Given the description of an element on the screen output the (x, y) to click on. 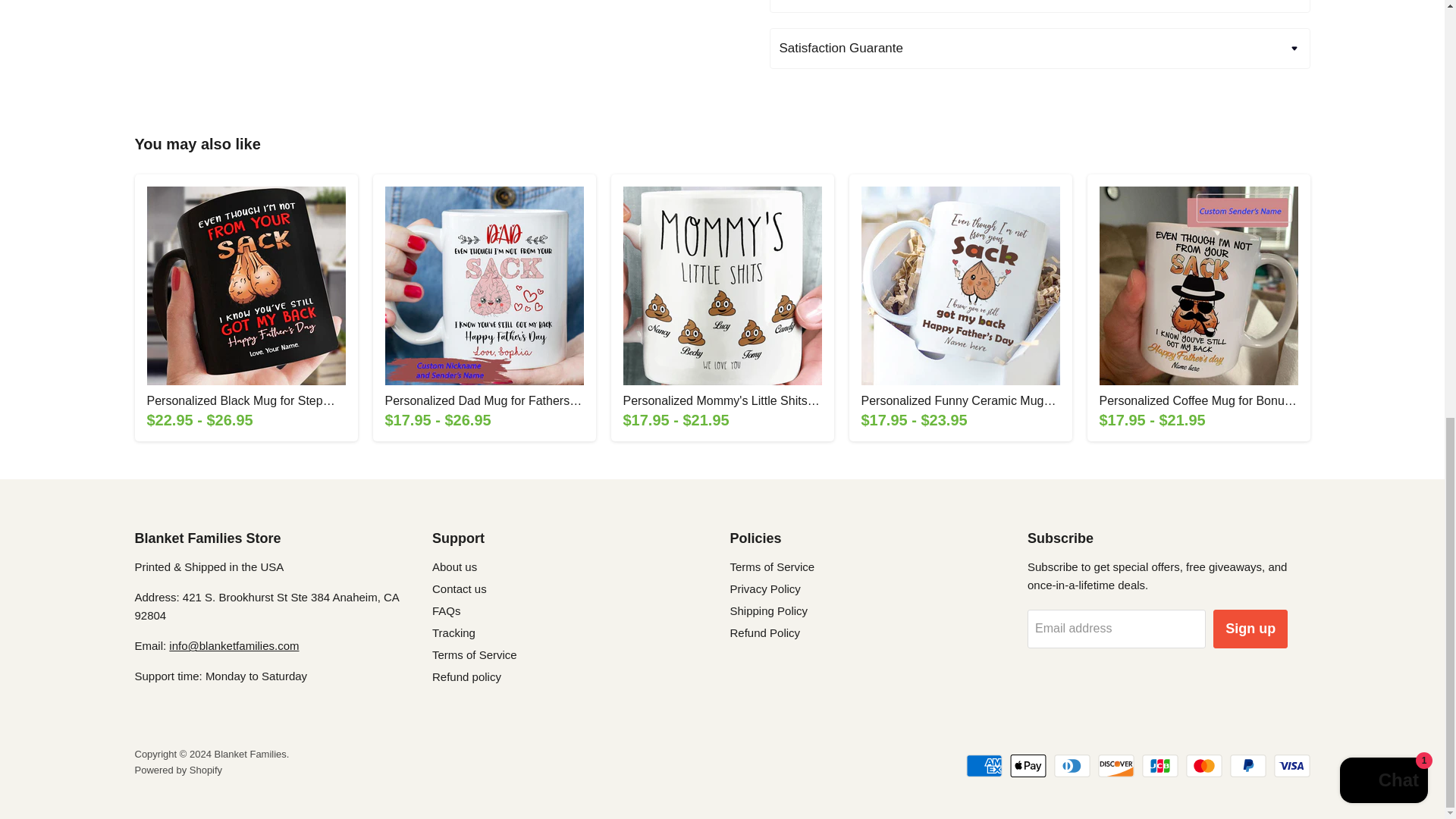
Discover (1115, 765)
Diners Club (1072, 765)
JCB (1159, 765)
Mastercard (1204, 765)
PayPal (1248, 765)
American Express (984, 765)
Visa (1292, 765)
Contact us (233, 645)
Apple Pay (1028, 765)
